Given the description of an element on the screen output the (x, y) to click on. 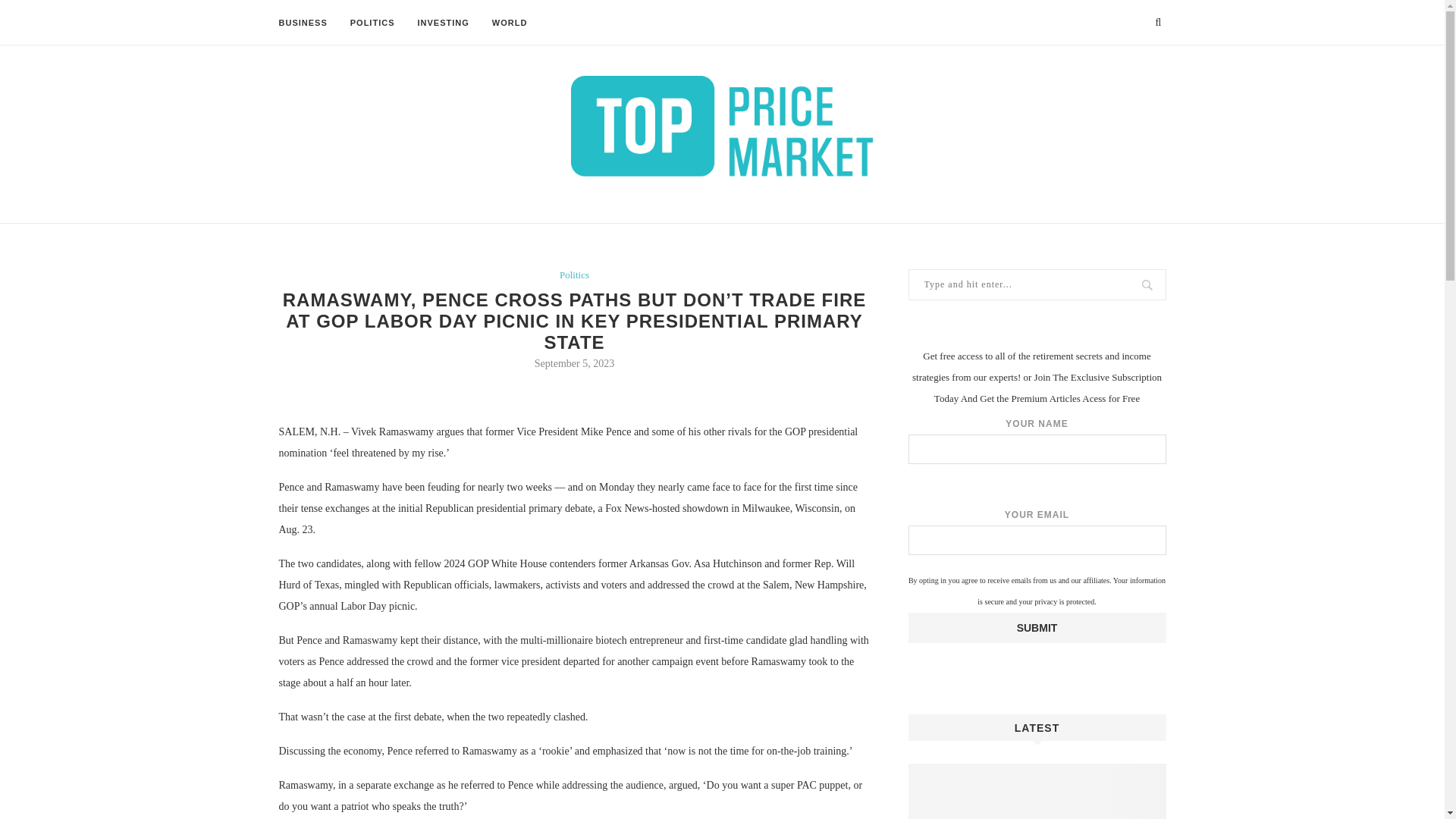
INVESTING (442, 22)
BUSINESS (303, 22)
Submit (1037, 627)
POLITICS (372, 22)
Politics (574, 275)
